Given the description of an element on the screen output the (x, y) to click on. 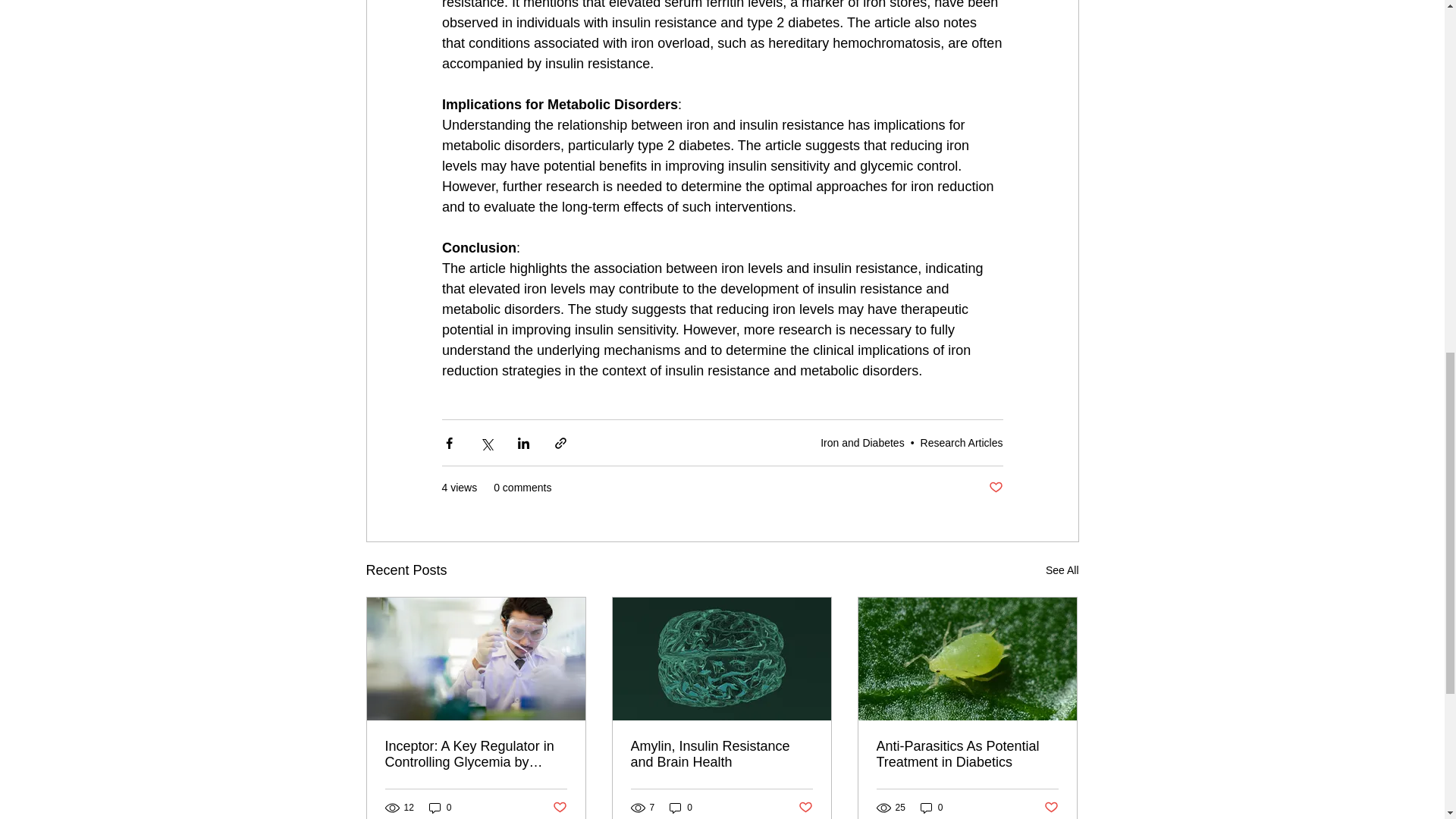
Post not marked as liked (995, 487)
Post not marked as liked (804, 806)
0 (440, 807)
Research Articles (961, 442)
Post not marked as liked (558, 806)
Iron and Diabetes (862, 442)
0 (681, 807)
Amylin, Insulin Resistance and Brain Health (721, 754)
See All (1061, 570)
